Given the description of an element on the screen output the (x, y) to click on. 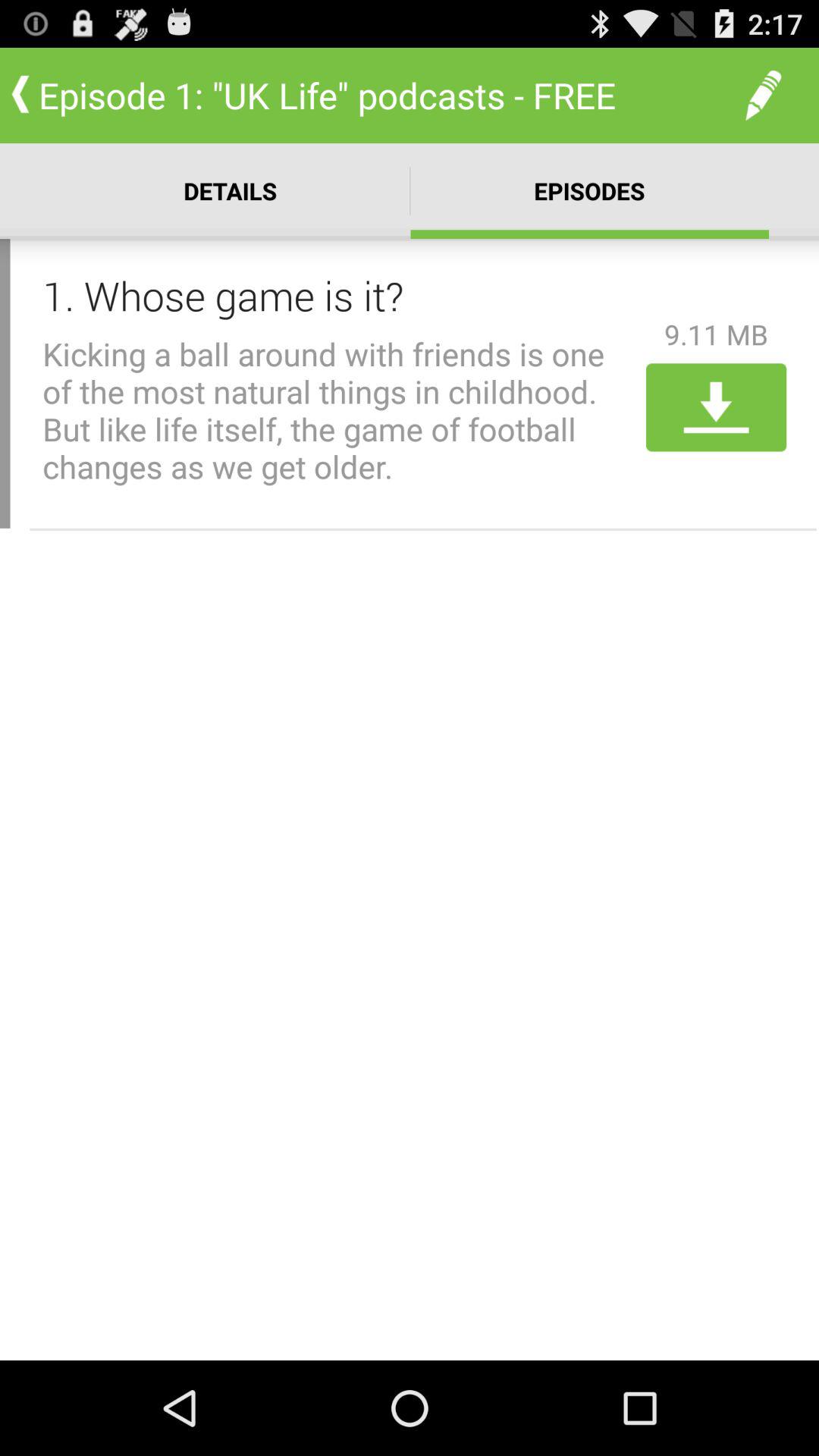
press the item above the kicking a ball app (338, 295)
